Given the description of an element on the screen output the (x, y) to click on. 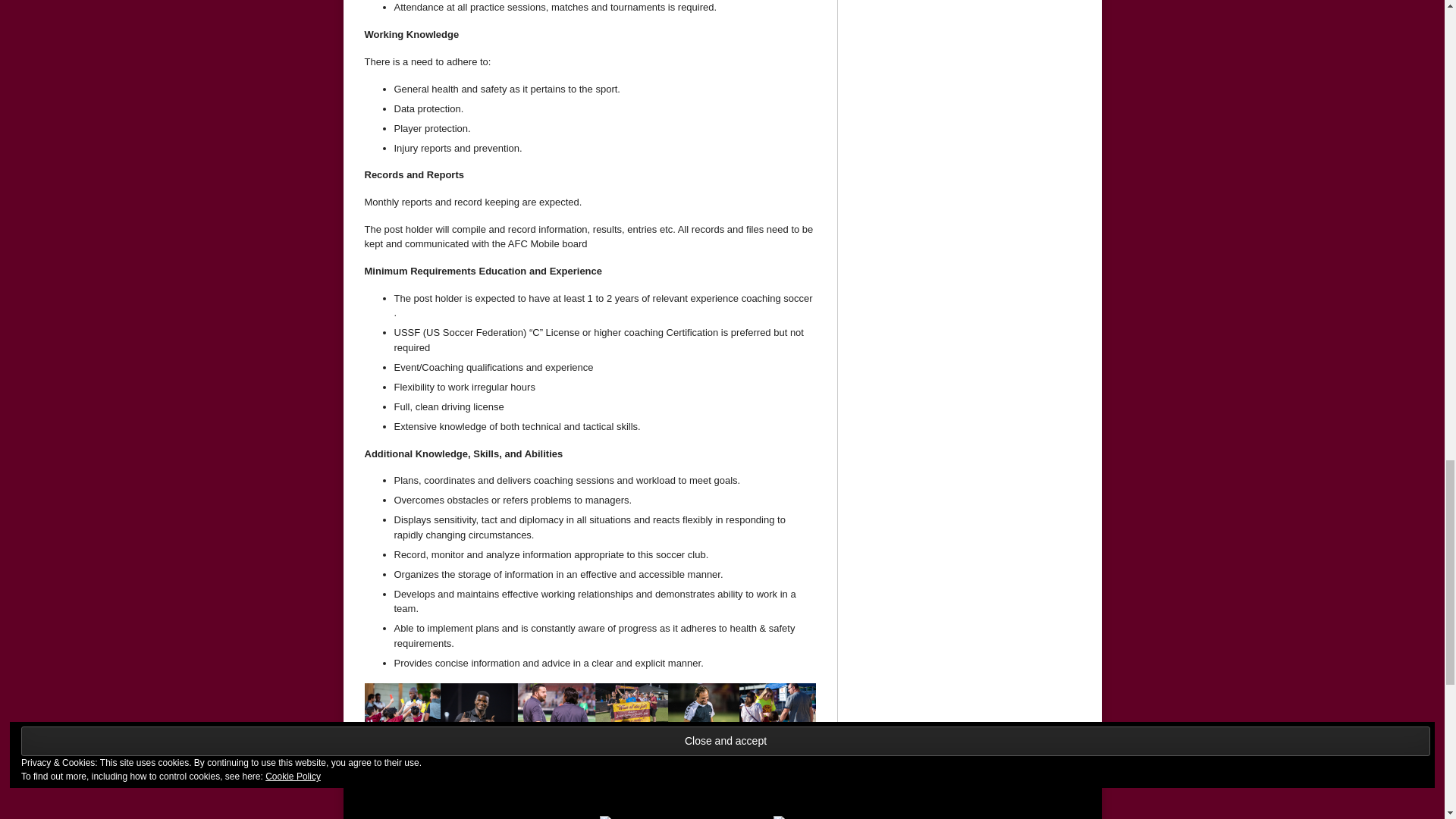
Visit Mobile (821, 817)
AZ Phone Repair (648, 817)
